Given the description of an element on the screen output the (x, y) to click on. 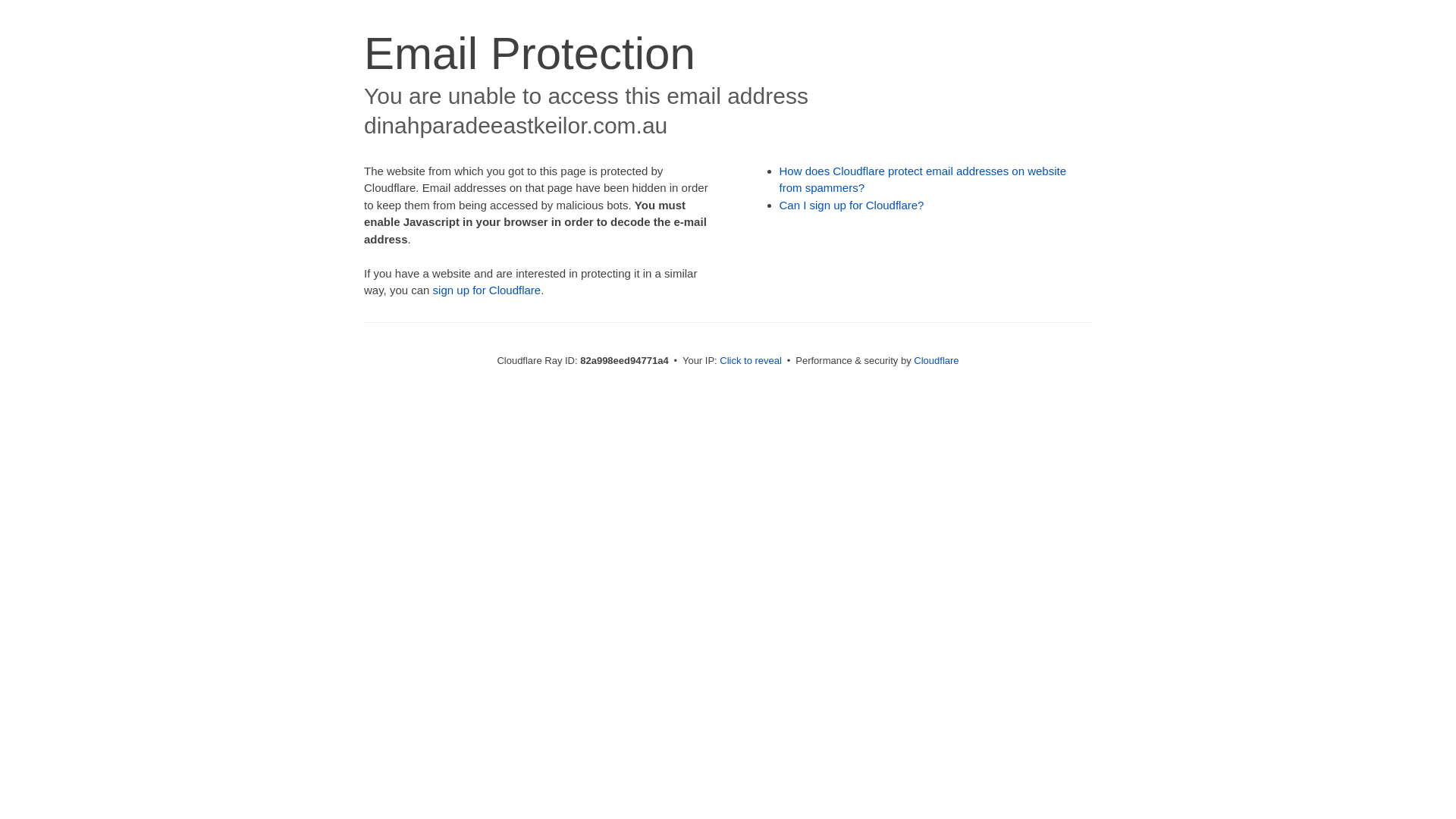
Click to reveal Element type: text (750, 360)
Cloudflare Element type: text (935, 360)
Can I sign up for Cloudflare? Element type: text (851, 204)
sign up for Cloudflare Element type: text (487, 289)
